Given the description of an element on the screen output the (x, y) to click on. 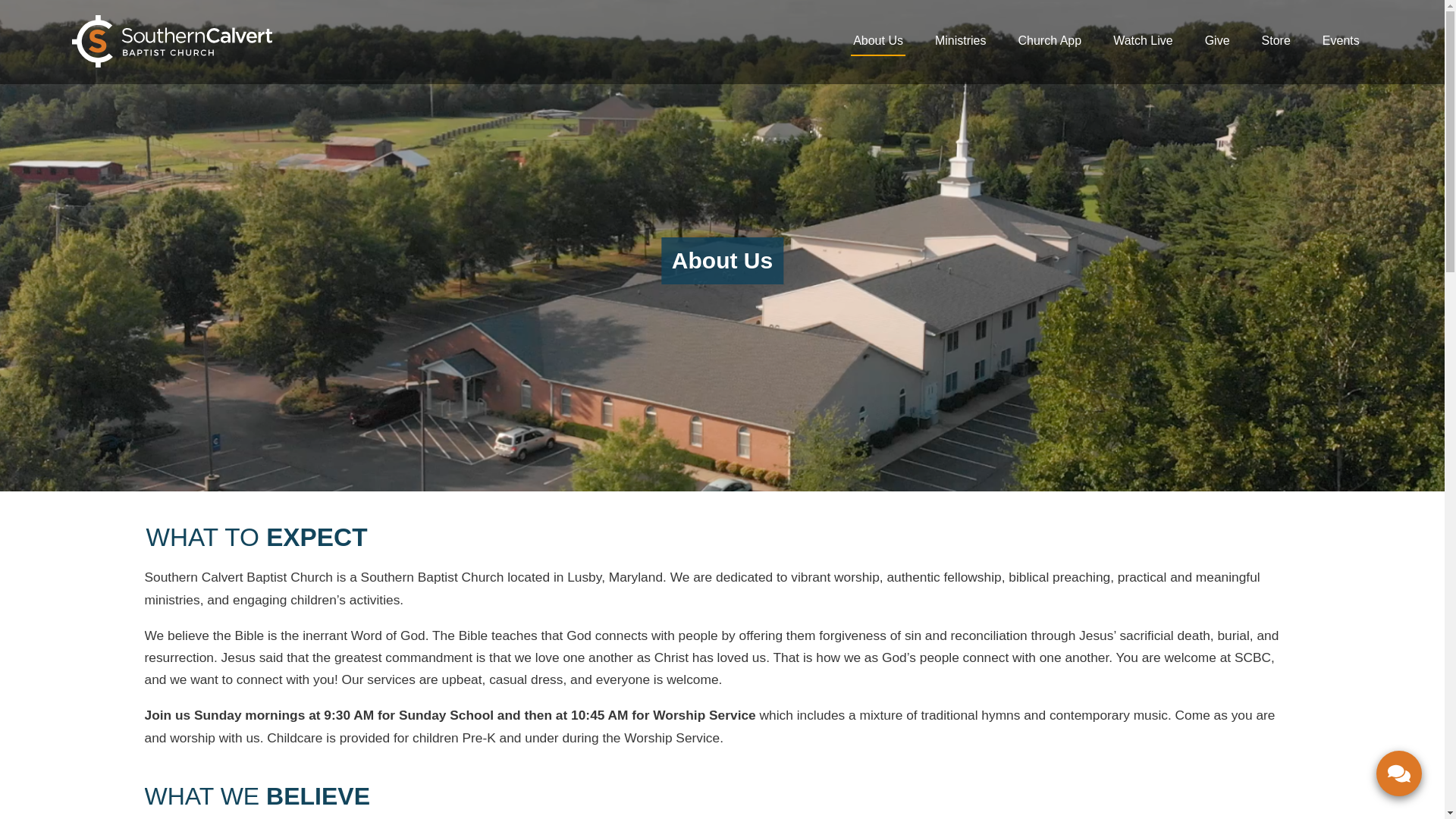
Store (1275, 41)
Watch Live (1142, 41)
About Us (877, 41)
Ministries (960, 41)
Events (1340, 41)
Give (1216, 41)
Church App (1050, 41)
